Given the description of an element on the screen output the (x, y) to click on. 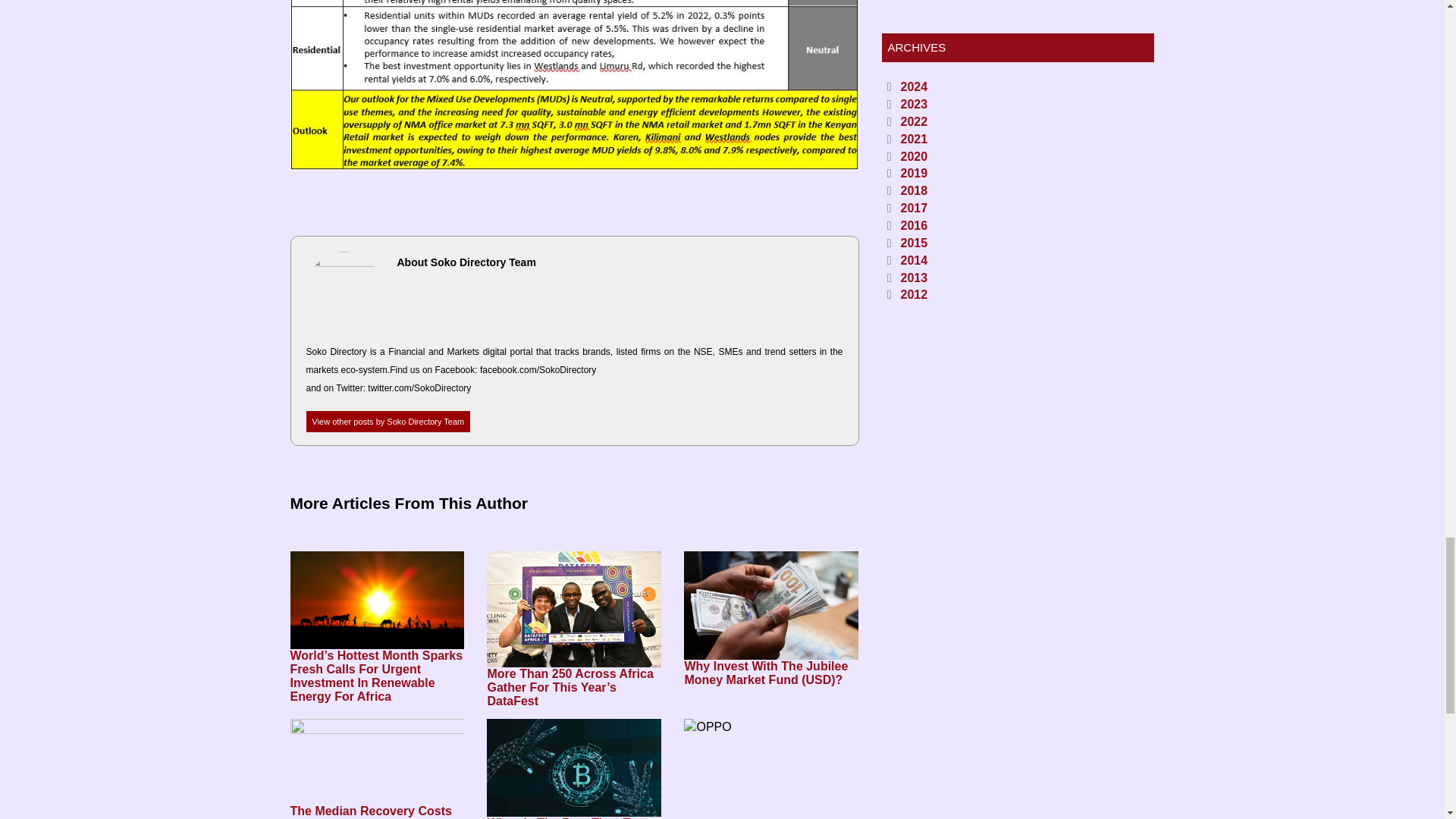
View other posts by Soko Directory Team (387, 421)
When Is The Best Time To Buy Crypto? (573, 817)
